Given the description of an element on the screen output the (x, y) to click on. 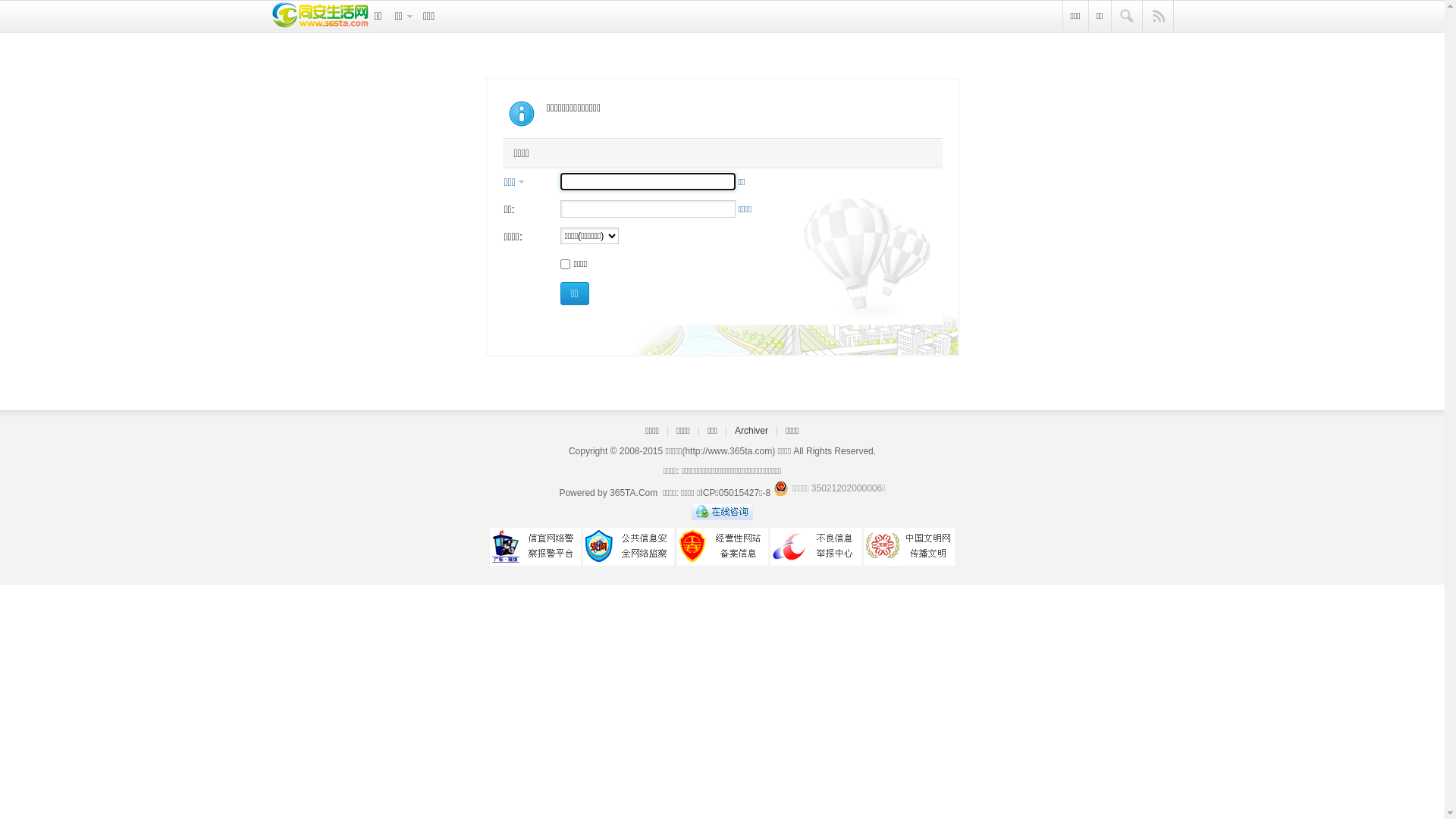
QQ Element type: hover (722, 516)
Archiver Element type: text (751, 430)
365TA.Com Element type: text (633, 492)
